Given the description of an element on the screen output the (x, y) to click on. 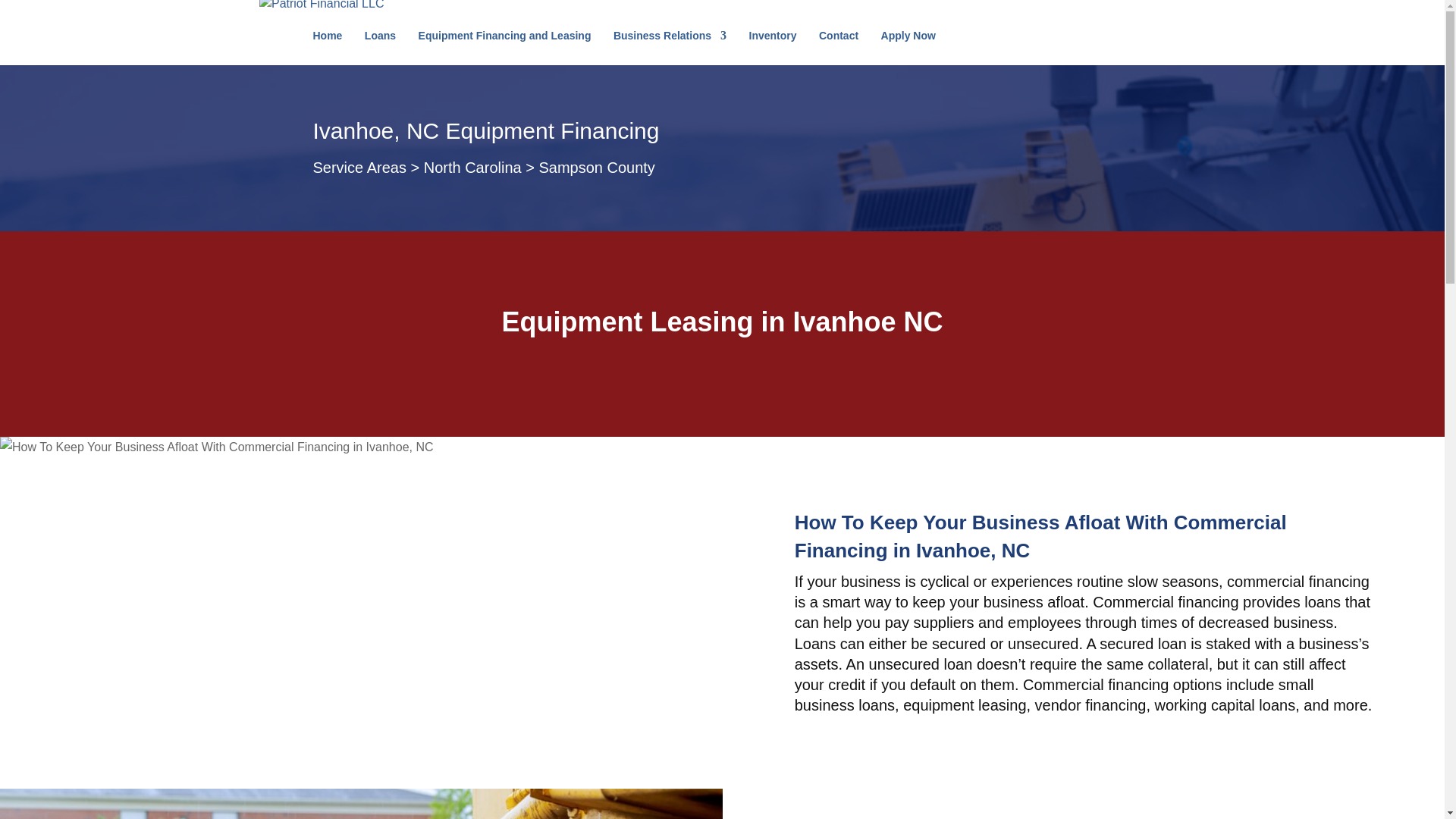
Service Areas (359, 167)
Sampson County (595, 167)
Equipment Financing and Leasing (505, 47)
North Carolina (472, 167)
Contact (838, 47)
Apply Now (908, 47)
Home (327, 47)
Loans (380, 47)
Business Relations (669, 47)
Inventory (772, 47)
